Given the description of an element on the screen output the (x, y) to click on. 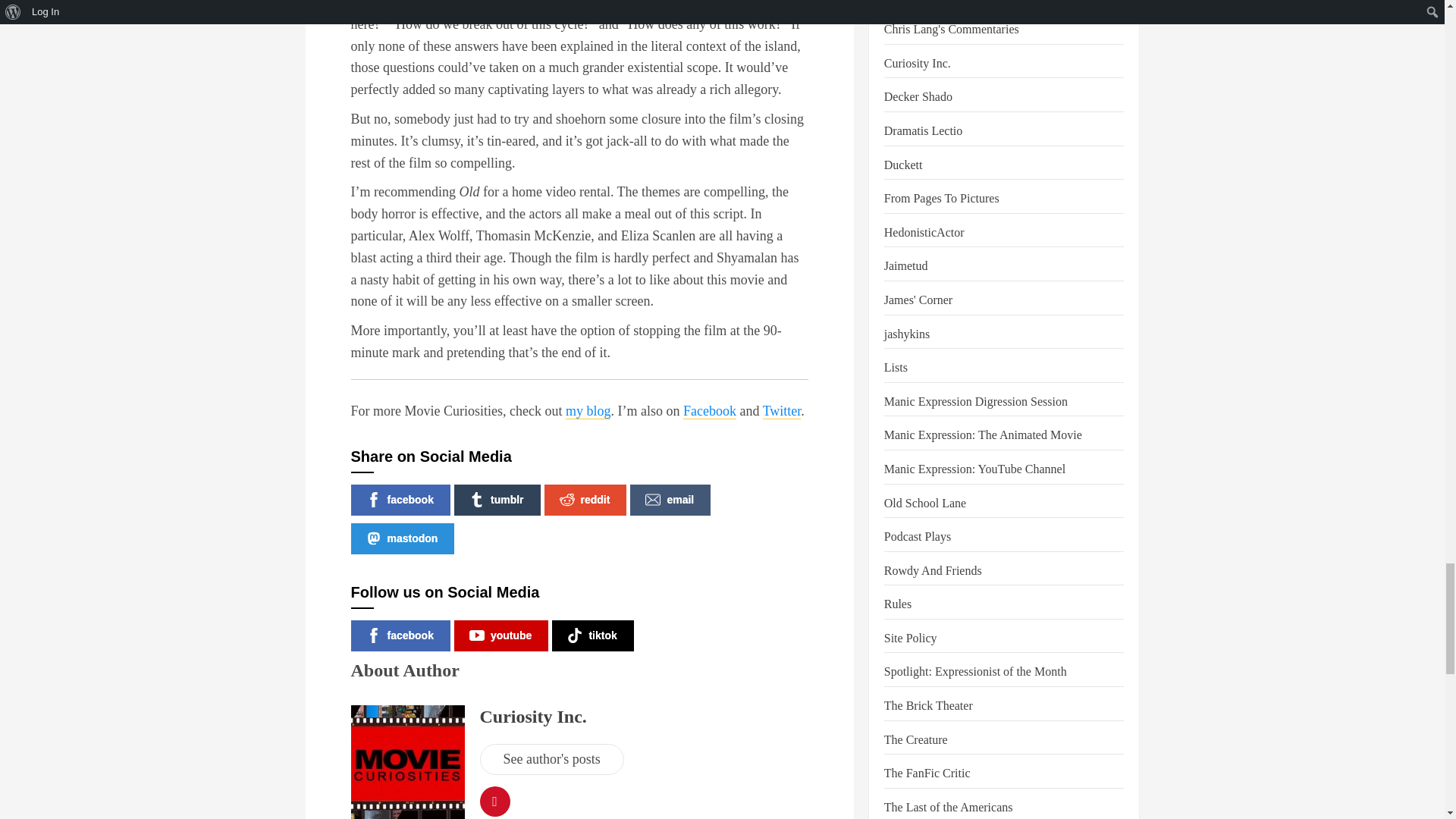
my blog (588, 411)
tumblr (497, 499)
Facebook (709, 411)
Twitter (782, 411)
facebook (399, 499)
